Given the description of an element on the screen output the (x, y) to click on. 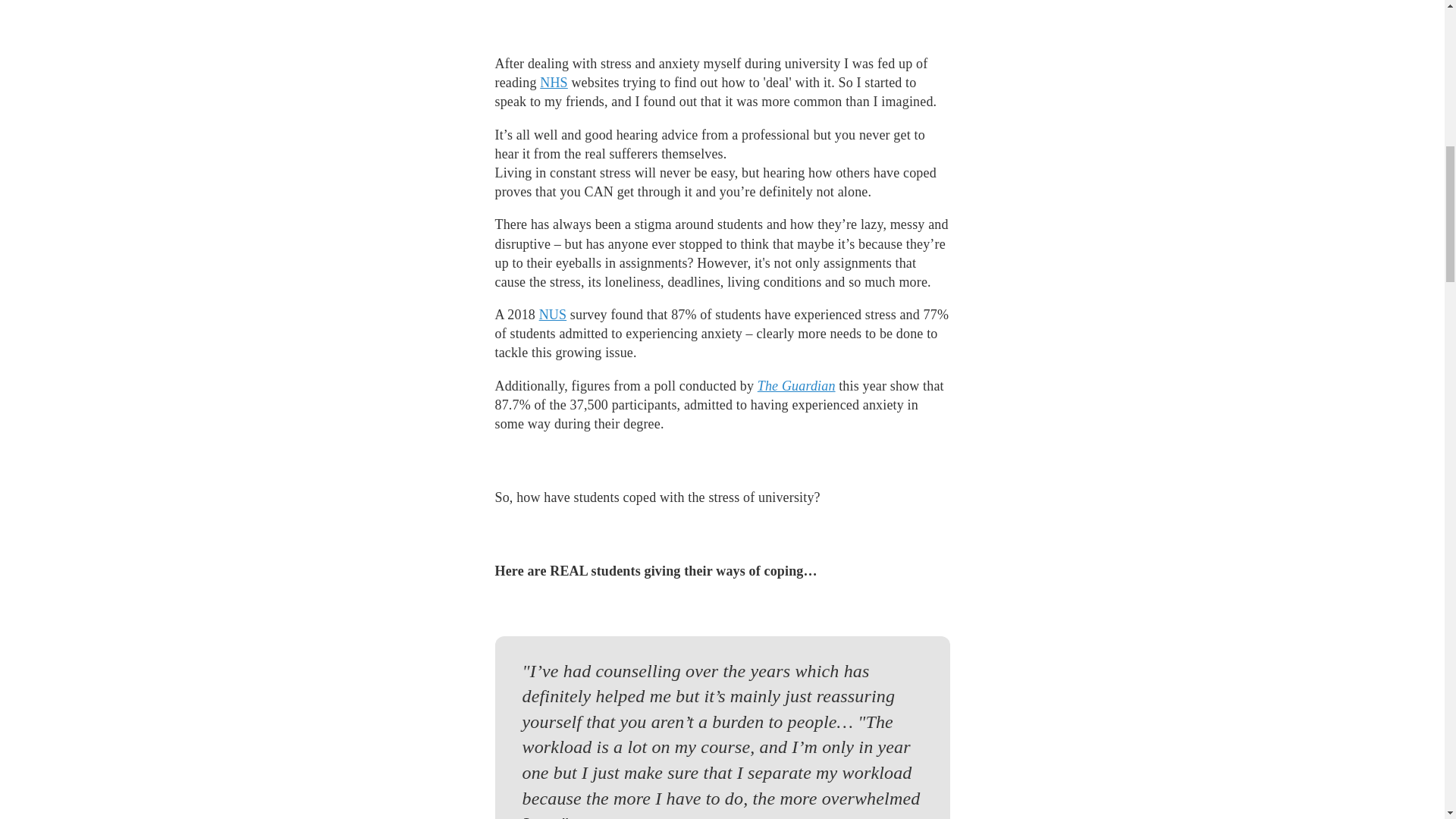
NUS (552, 314)
NHS (553, 82)
The Guardian (796, 385)
